Given the description of an element on the screen output the (x, y) to click on. 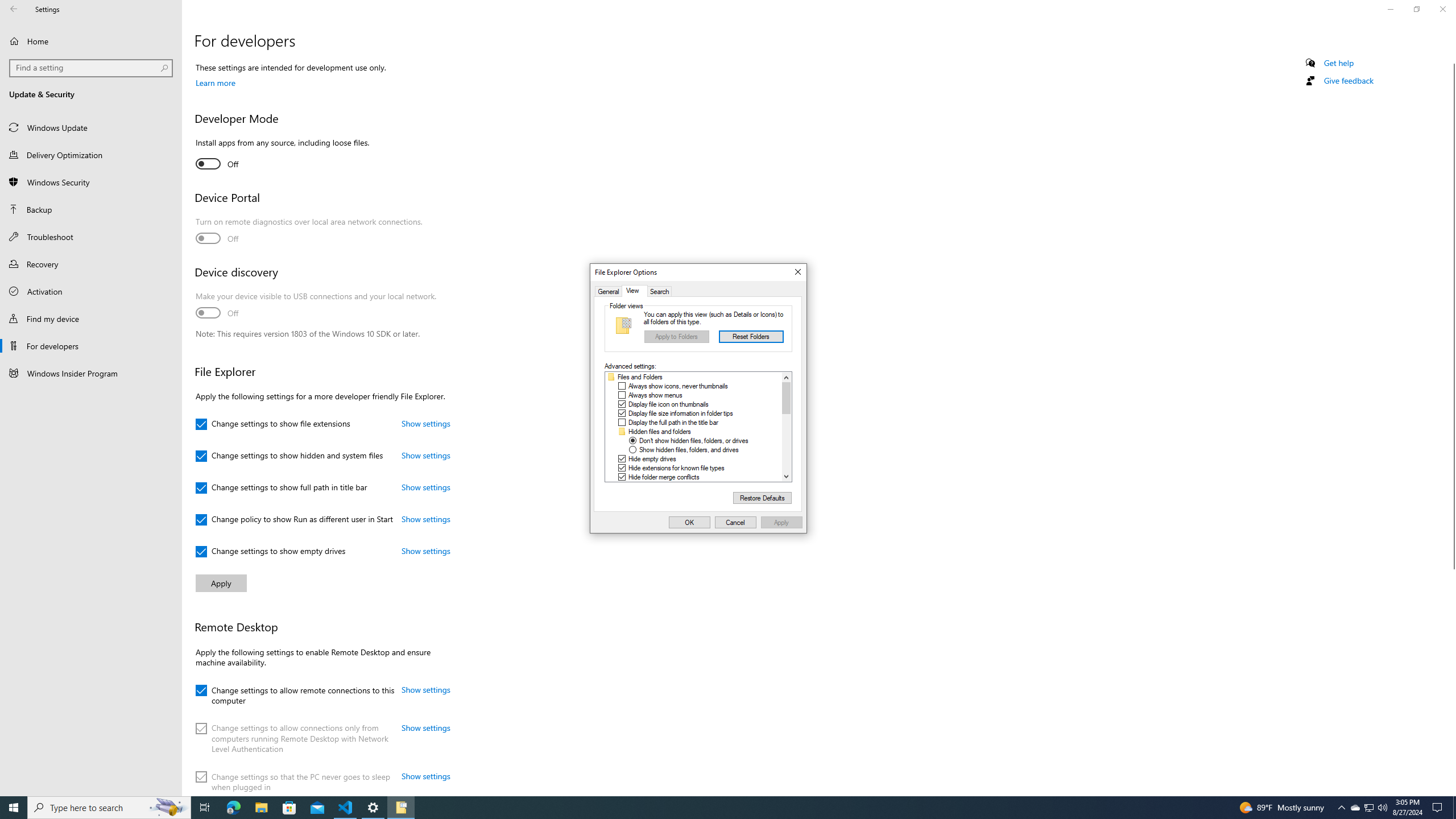
User Promoted Notification Area (1368, 807)
Search highlights icon opens search home window (167, 807)
File Explorer (261, 807)
Line up (785, 377)
View (634, 290)
OK (689, 522)
Show hidden files, folders, and drives (688, 449)
Microsoft Edge (233, 807)
Display the full path in the title bar (673, 422)
Visual Studio Code - 1 running window (345, 807)
Notification Chevron (1341, 807)
Show desktop (1454, 807)
Running applications (717, 807)
Start (13, 807)
